Given the description of an element on the screen output the (x, y) to click on. 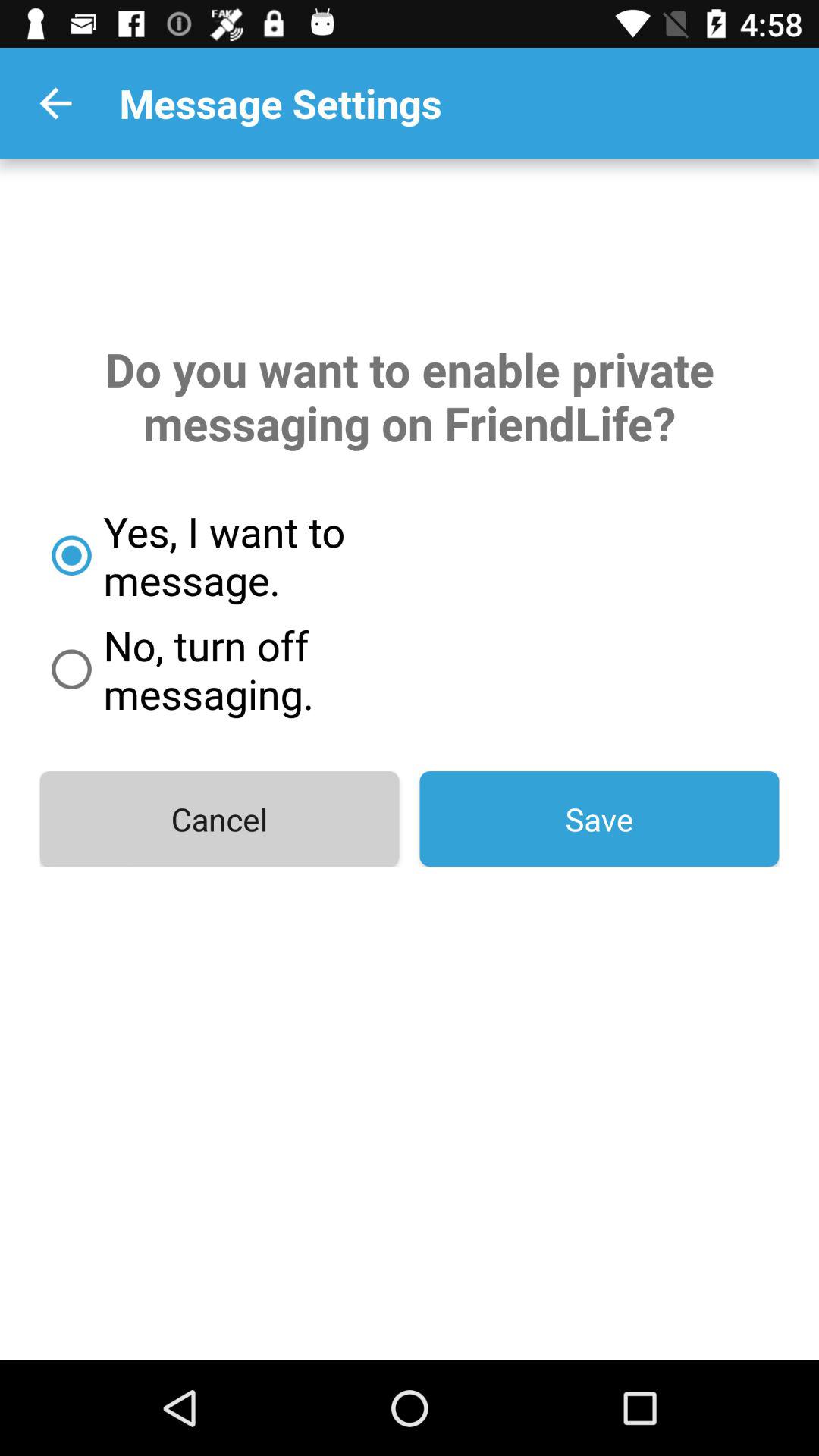
tap the item below do you want item (278, 555)
